Given the description of an element on the screen output the (x, y) to click on. 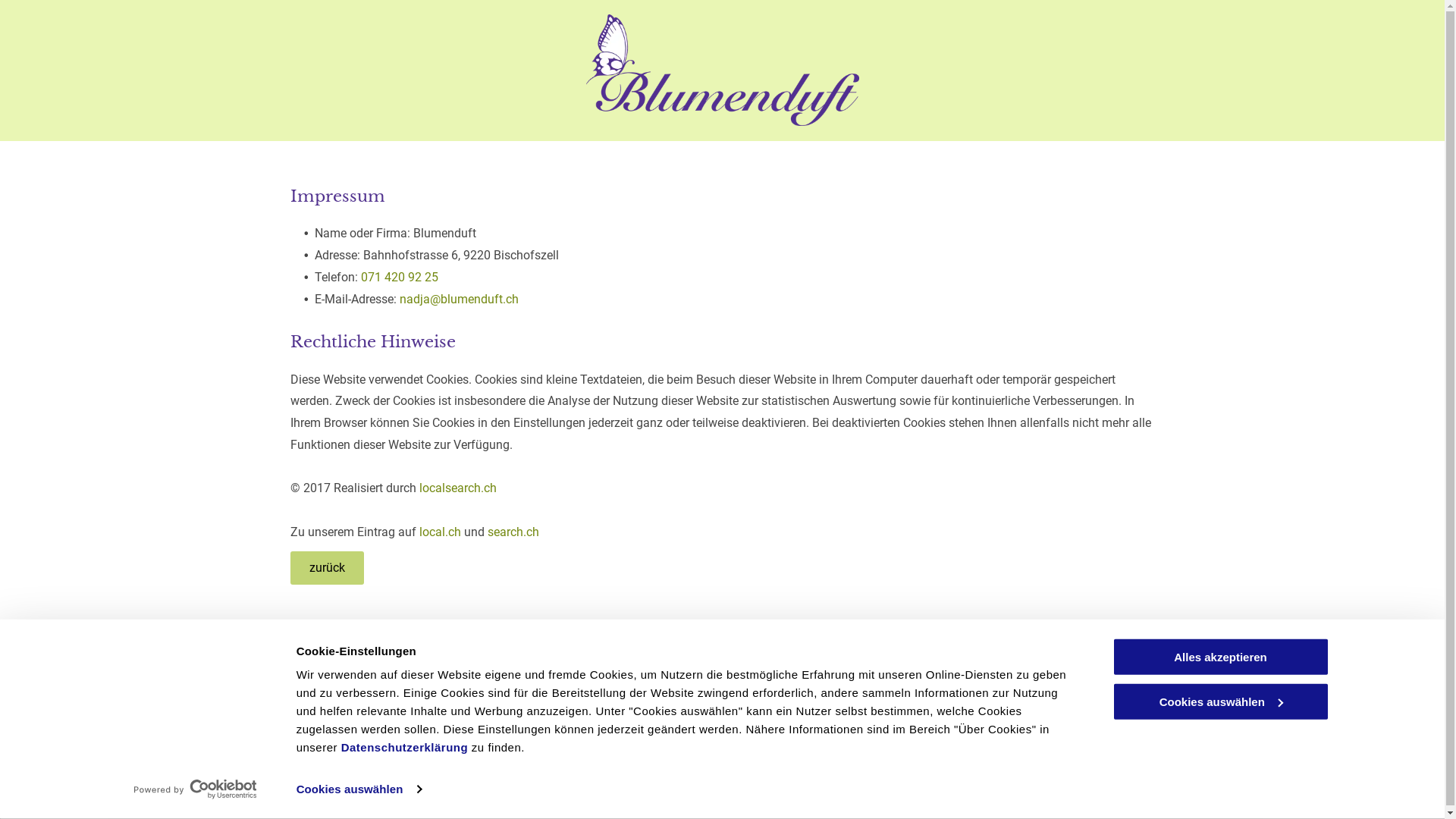
nadja@blumenduft.ch Element type: text (457, 298)
local.ch Element type: text (439, 531)
search.ch Element type: text (512, 531)
localsearch.ch Element type: text (456, 487)
071 420 92 25 Element type: text (623, 713)
071 420 92 25 Element type: text (399, 276)
nadja@blumenduft.ch Element type: text (644, 753)
Impressum Element type: text (1124, 684)
Alles akzeptieren Element type: text (1219, 656)
